Given the description of an element on the screen output the (x, y) to click on. 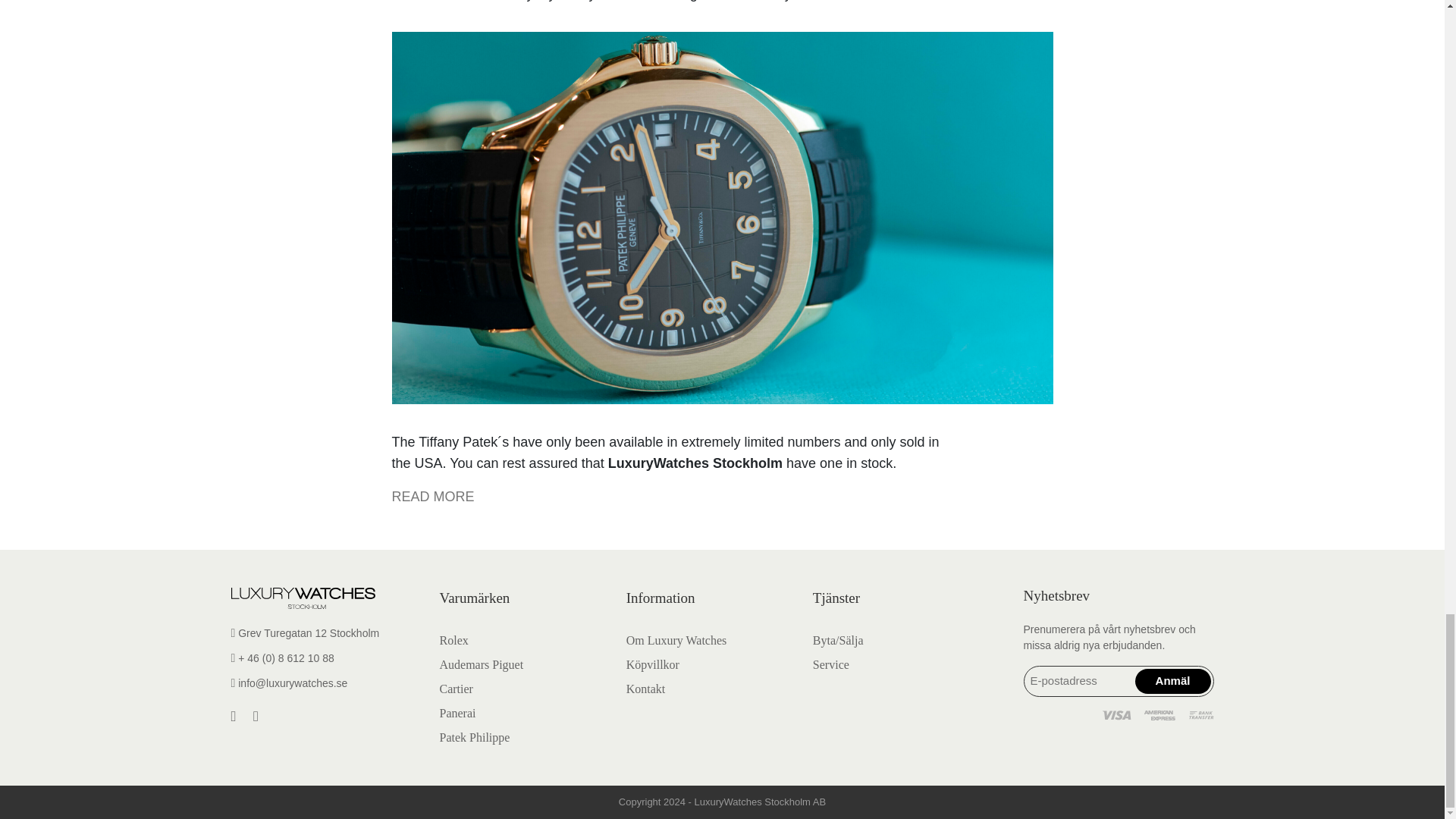
Audemars Piguet (481, 664)
READ MORE (432, 496)
Grev Turegatan 12 Stockholm (325, 633)
Rolex (453, 640)
